Given the description of an element on the screen output the (x, y) to click on. 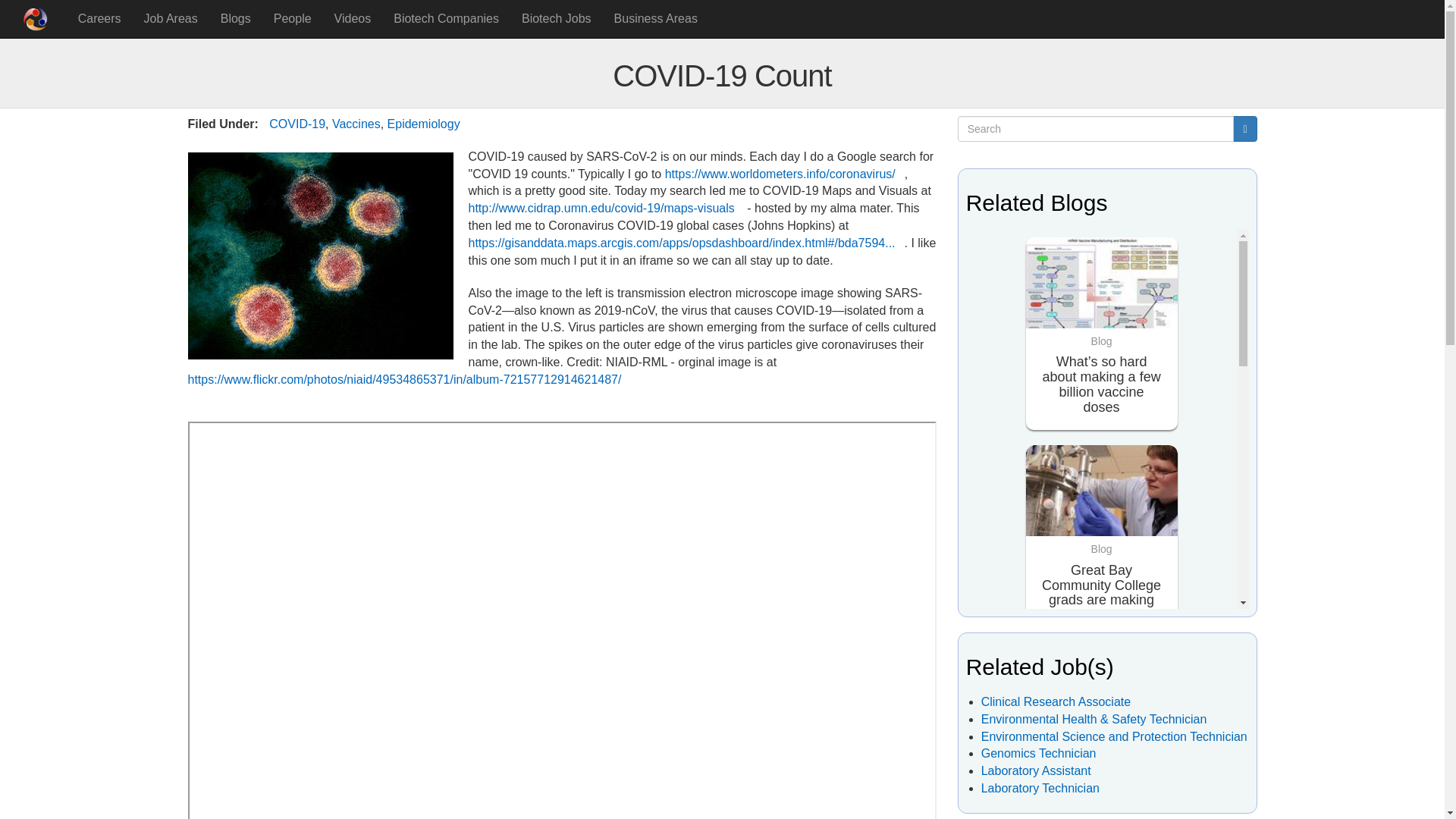
Home (38, 18)
Clinical Research Associate (1056, 701)
Blogs (235, 18)
Blog (1101, 736)
Search (984, 146)
GBCC student  Photo credit:  GBCC (1101, 501)
Business Areas (655, 18)
Enter the terms you wish to search for. (1096, 128)
People (292, 18)
Laboratory Assistant (1035, 770)
Videos (352, 18)
Novel Coronavirus SARS-CoV-2 (319, 255)
Biotech Companies (446, 18)
mRNA Vaccine Manufacture and Supply Chain Thumbnai (1101, 294)
Genomics Technician (1038, 753)
